Given the description of an element on the screen output the (x, y) to click on. 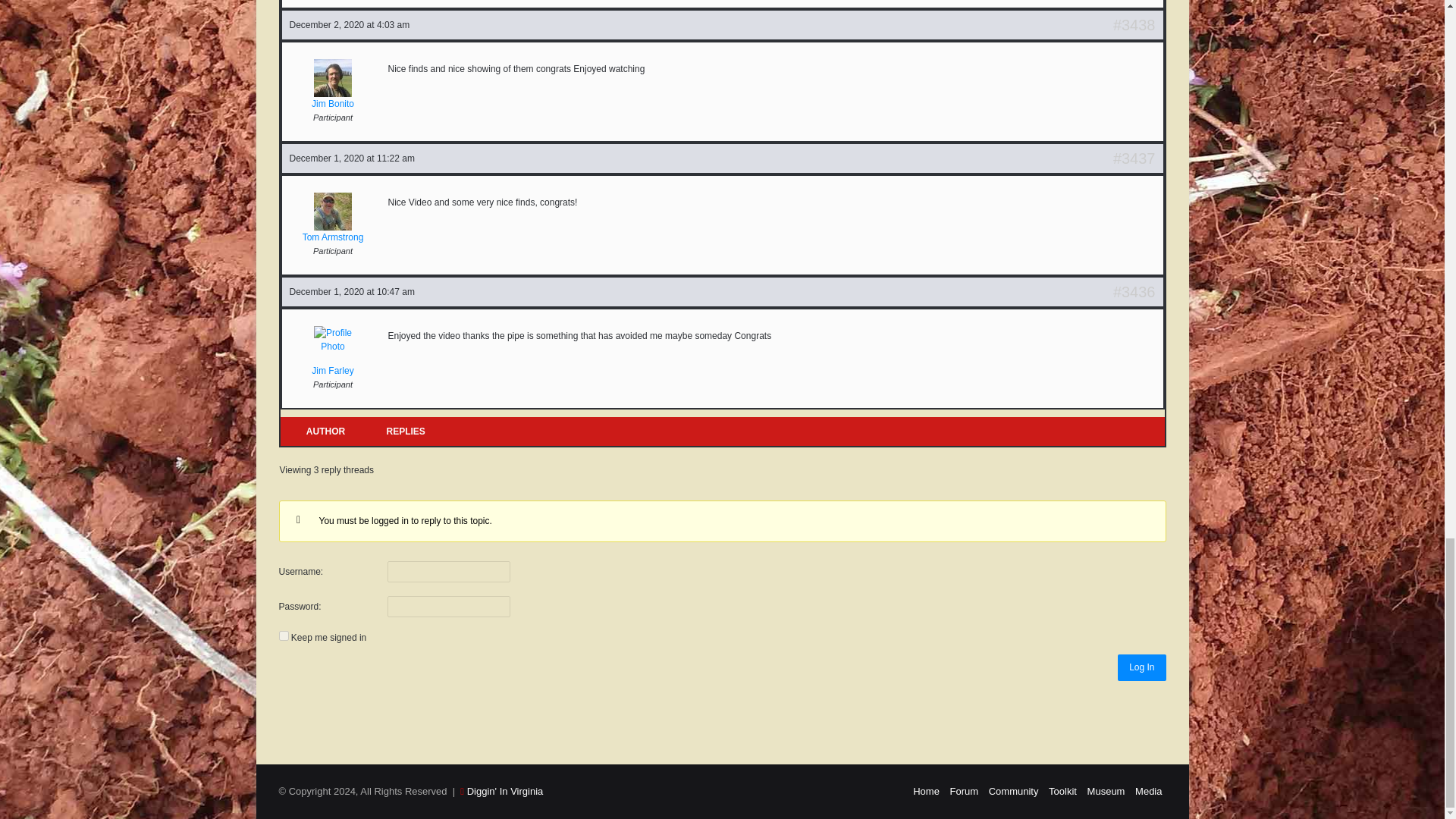
Jim Farley (333, 351)
Tom Armstrong (333, 218)
Jim Bonito (333, 84)
Diggin' In Virginia (505, 790)
forever (283, 635)
Log In (1142, 667)
View Tom Armstrong's profile (333, 218)
View Jim Bonito's profile (333, 84)
Home (925, 790)
View Jim Farley's profile (333, 351)
